Given the description of an element on the screen output the (x, y) to click on. 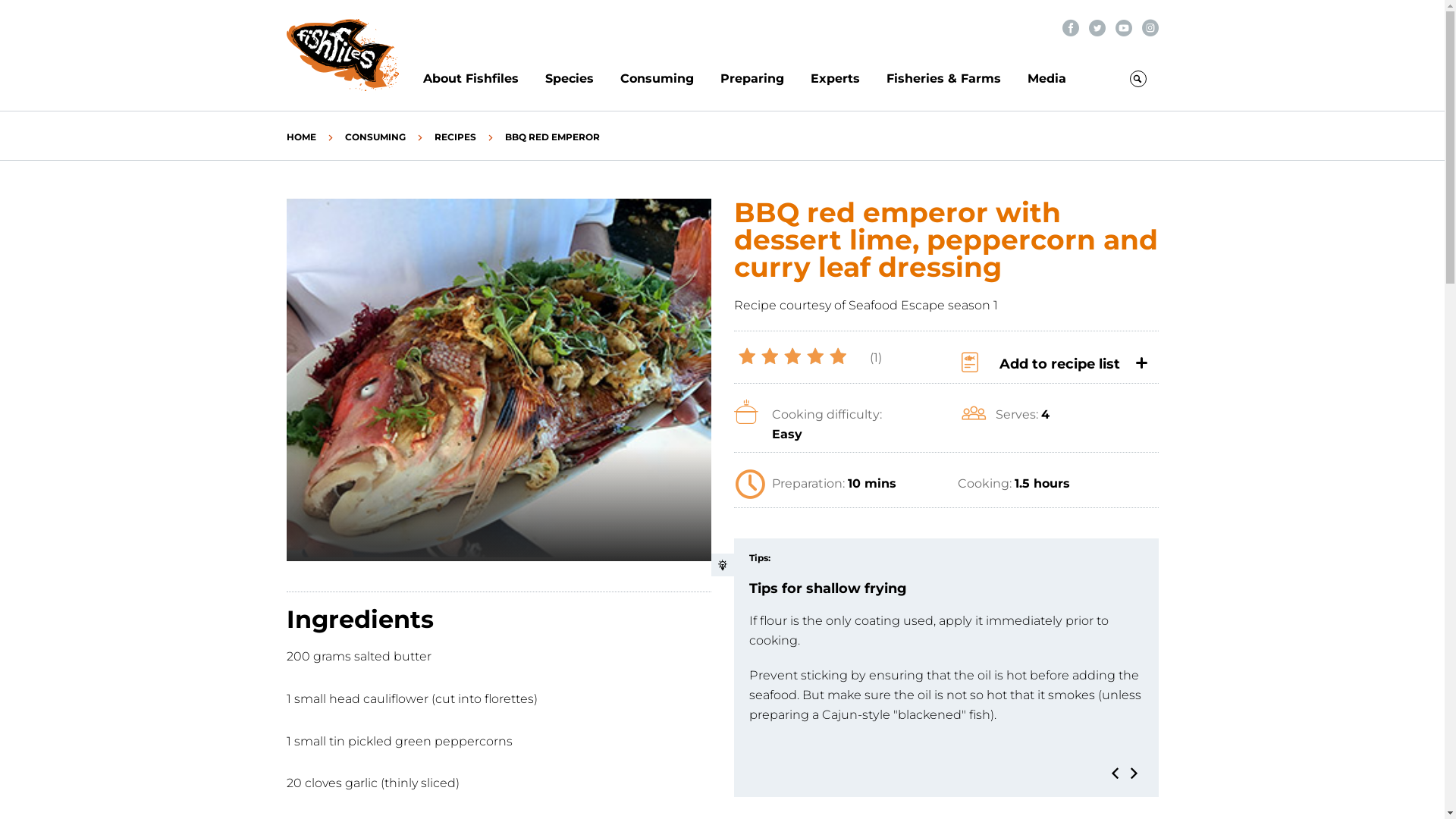
Next Element type: text (1133, 772)
Consuming Element type: text (670, 78)
Facebook Element type: text (1069, 26)
HOME Element type: text (301, 136)
Experts Element type: text (847, 78)
Media Element type: text (1045, 78)
Add to recipe list Element type: text (1051, 362)
Instagram Element type: text (1150, 26)
Species Element type: text (581, 78)
Previous Element type: text (1114, 772)
fishfiles Element type: text (342, 54)
BBQ RED EMPEROR Element type: text (552, 136)
CONSUMING Element type: text (374, 136)
RECIPES Element type: text (454, 136)
Preparing Element type: text (765, 78)
Twitter Element type: text (1096, 26)
Fisheries & Farms Element type: text (955, 78)
About Fishfiles Element type: text (484, 78)
Youtube Element type: text (1122, 26)
